Given the description of an element on the screen output the (x, y) to click on. 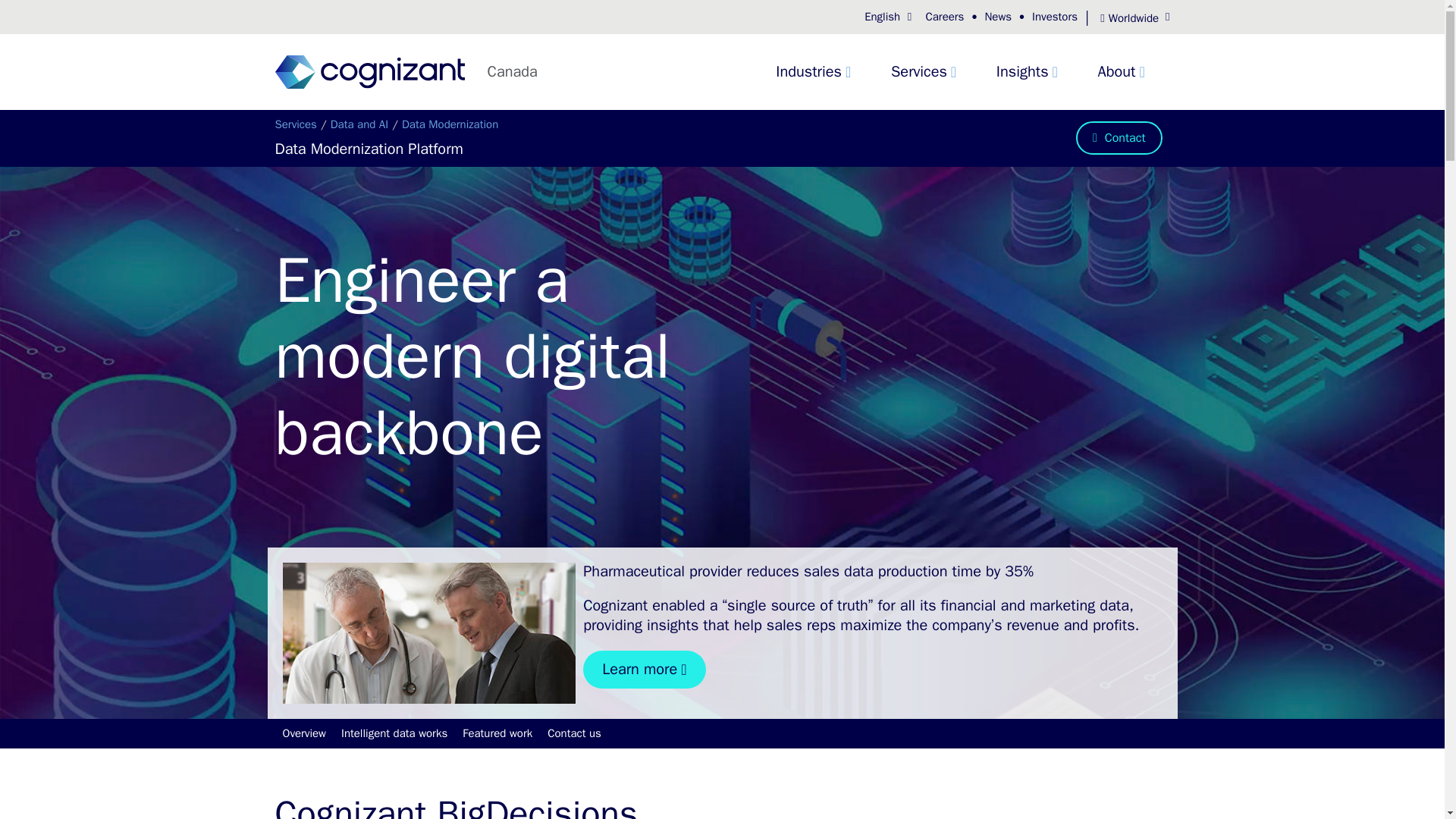
English (888, 17)
News (997, 17)
Worldwide (1128, 18)
Careers (944, 17)
Investors (1054, 17)
